Given the description of an element on the screen output the (x, y) to click on. 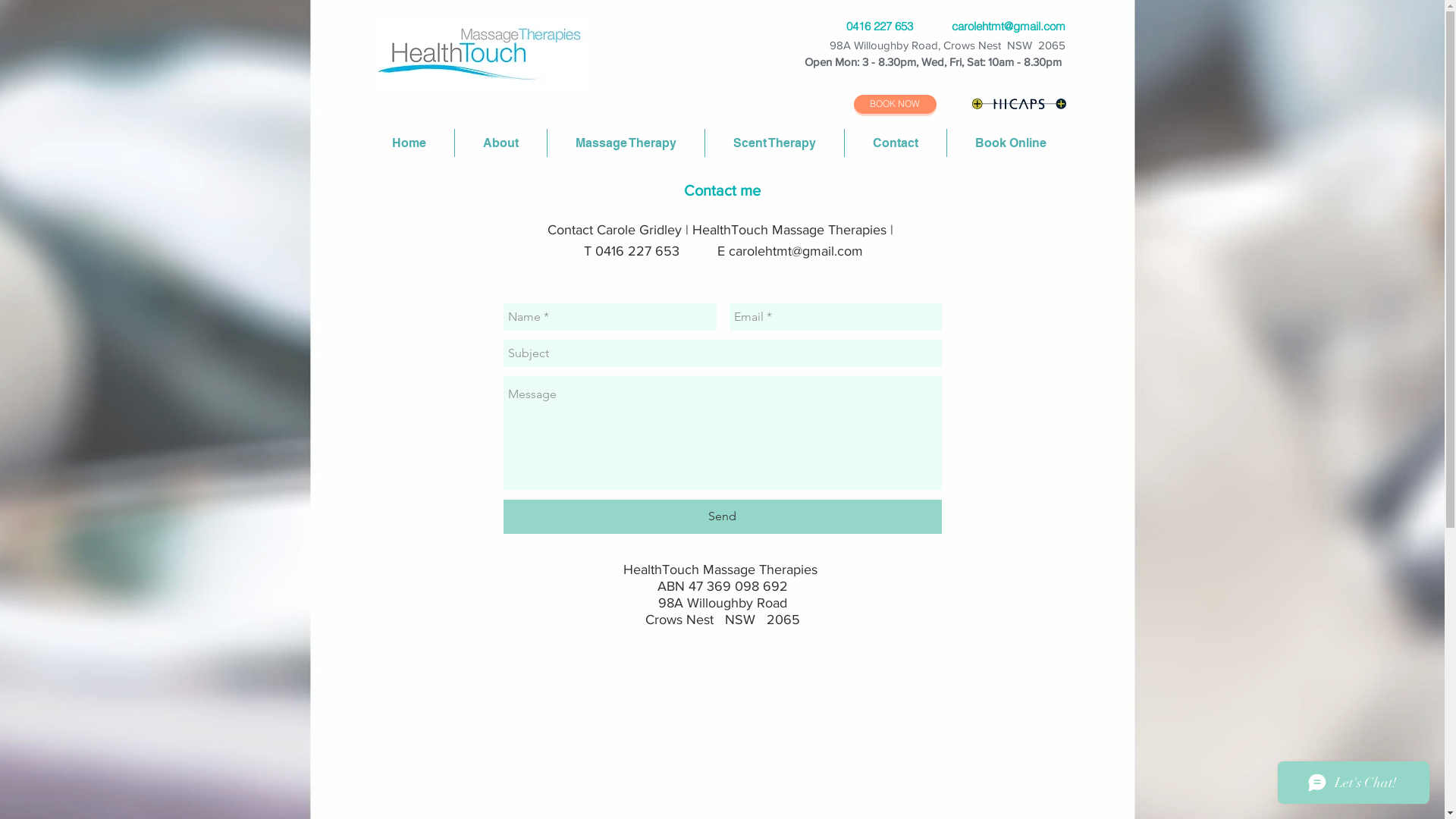
Scent Therapy Element type: text (774, 142)
Home Element type: text (409, 142)
Contact Element type: text (895, 142)
About Element type: text (500, 142)
Book Online Element type: text (1009, 142)
carolehtmt@gmail.com Element type: text (795, 250)
carolehtmt@gmail.com Element type: text (1007, 25)
BOOK NOW Element type: text (894, 103)
Massage Therapy Element type: text (625, 142)
Send Element type: text (722, 516)
